Given the description of an element on the screen output the (x, y) to click on. 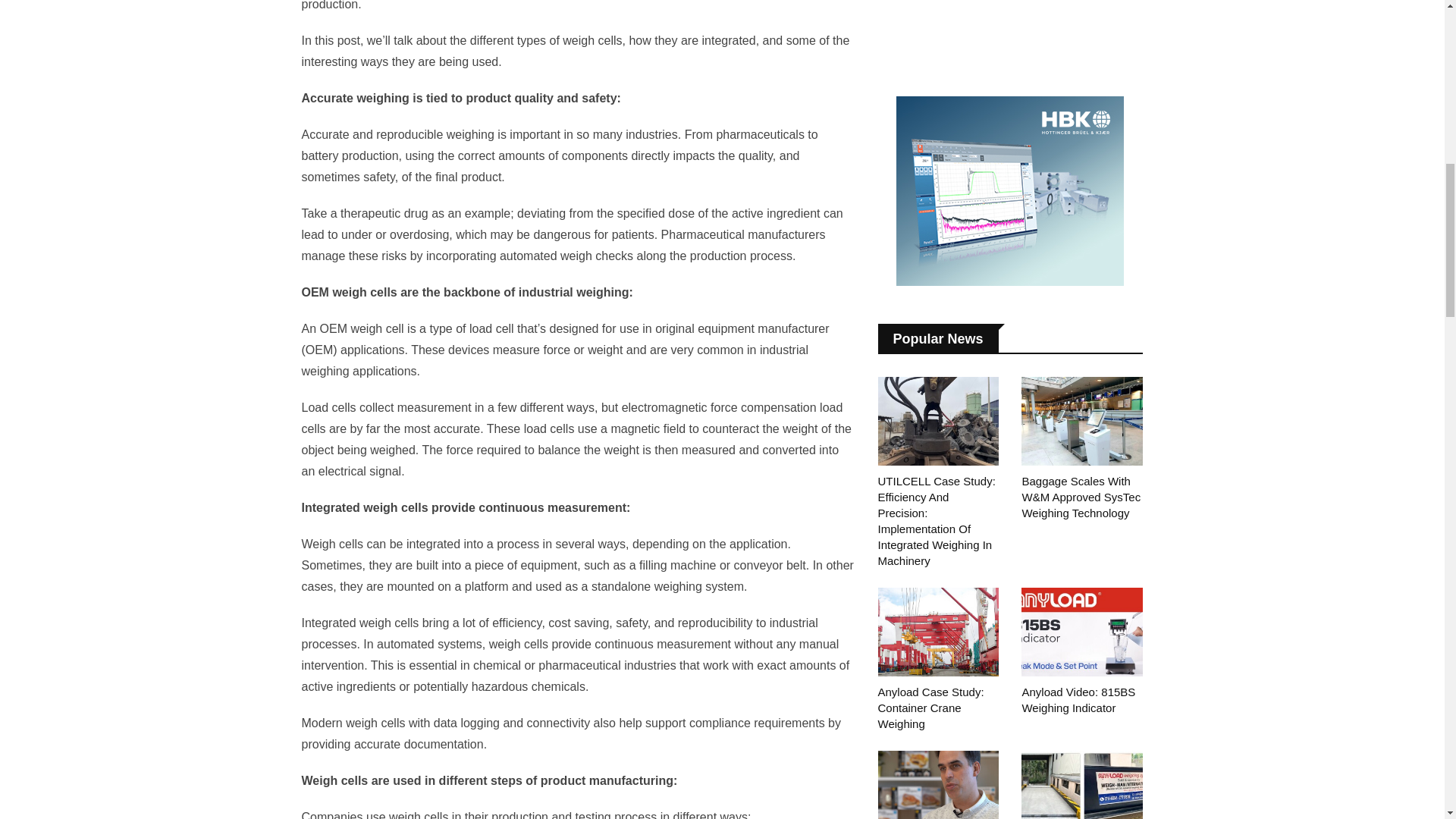
Advertisement (1010, 28)
